Given the description of an element on the screen output the (x, y) to click on. 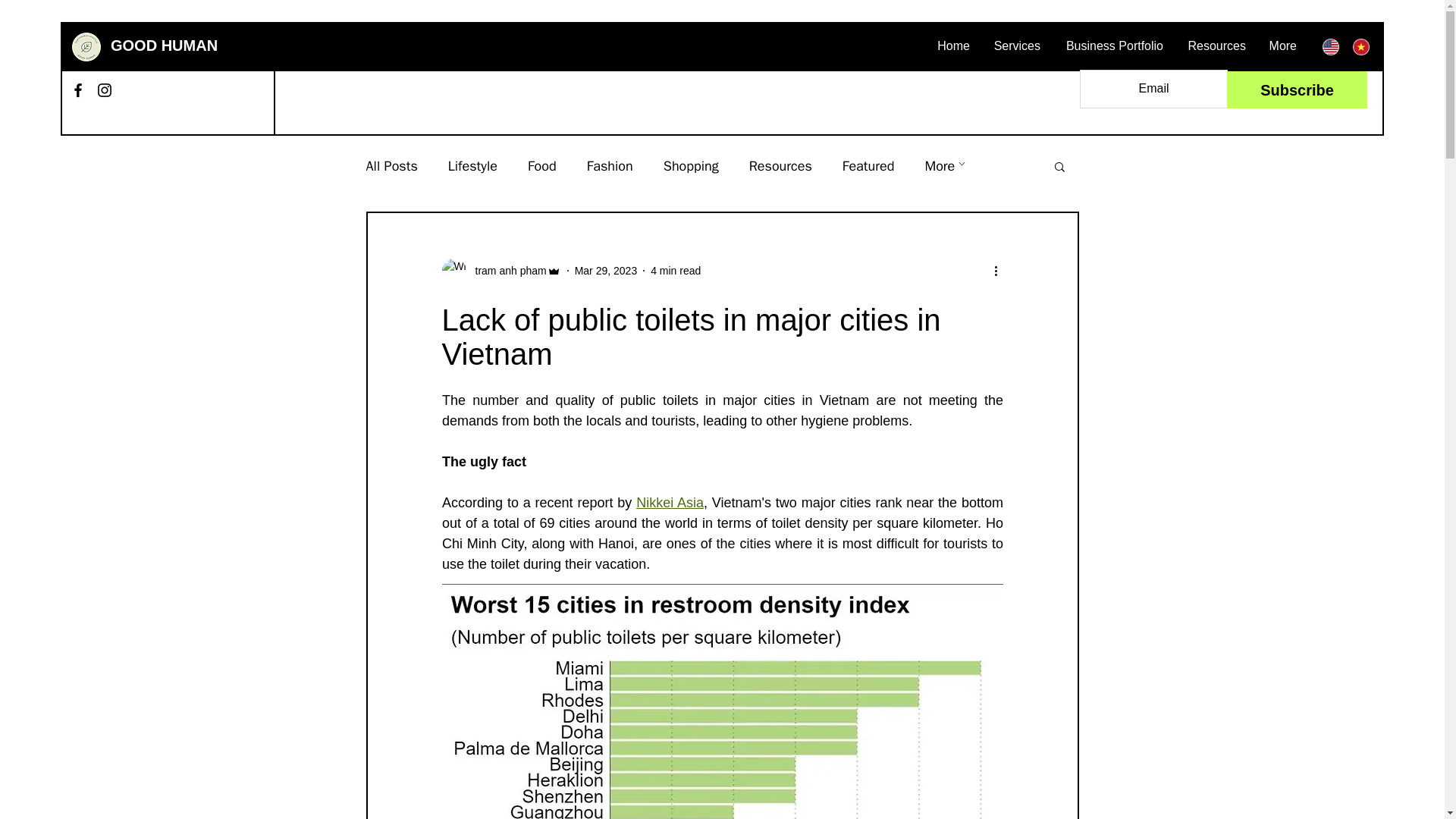
4 min read (675, 269)
GOOD HUMAN (163, 45)
All Posts (390, 166)
Shopping (691, 166)
Lifestyle (472, 166)
tram anh pham (500, 270)
Food (541, 166)
Services (1016, 46)
Resources (1215, 46)
Fashion (609, 166)
Nikkei Asia (669, 502)
tram anh pham (505, 270)
Mar 29, 2023 (606, 269)
Featured (869, 166)
Business Portfolio (1112, 46)
